Given the description of an element on the screen output the (x, y) to click on. 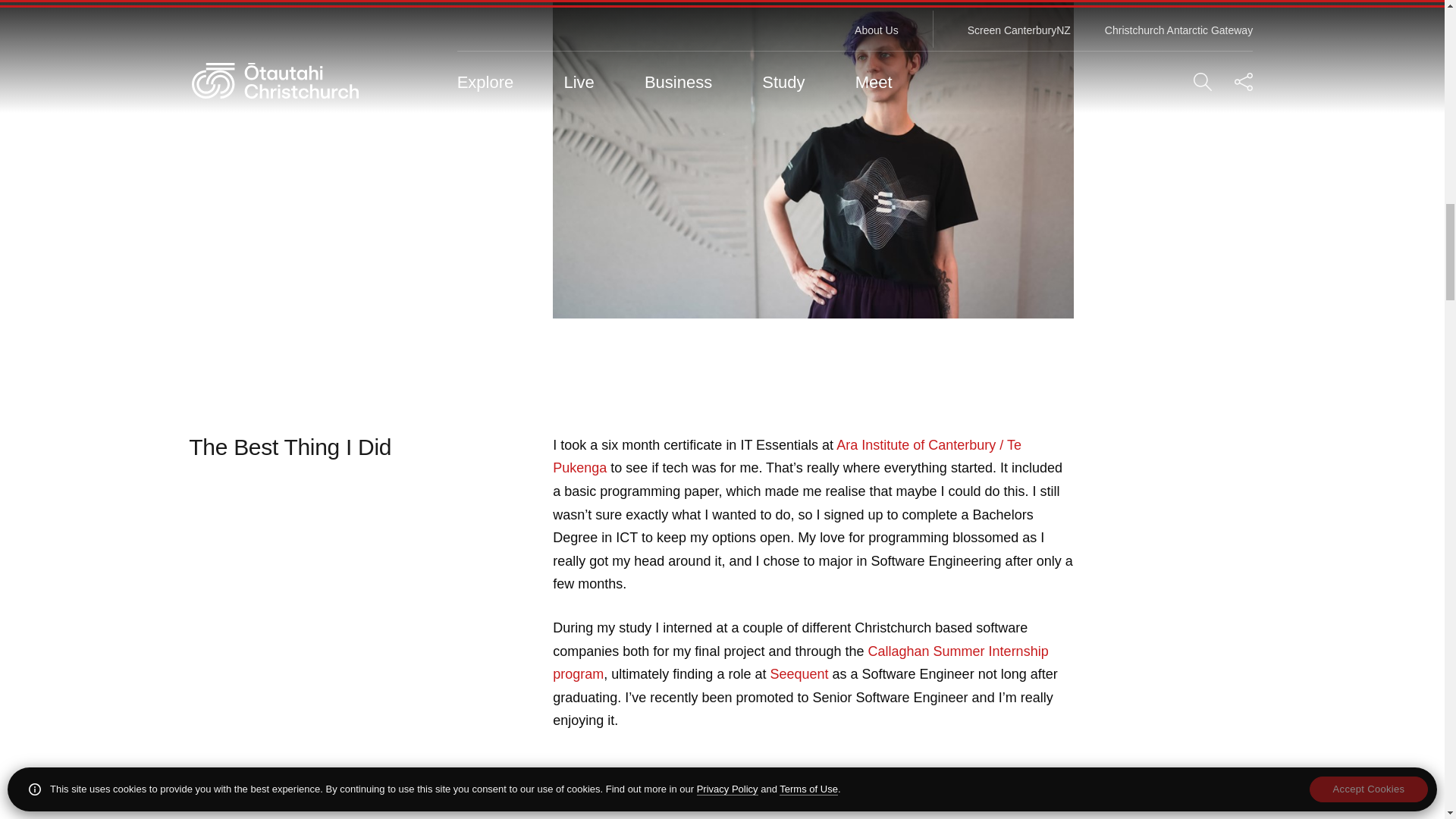
Seequent (799, 674)
